Given the description of an element on the screen output the (x, y) to click on. 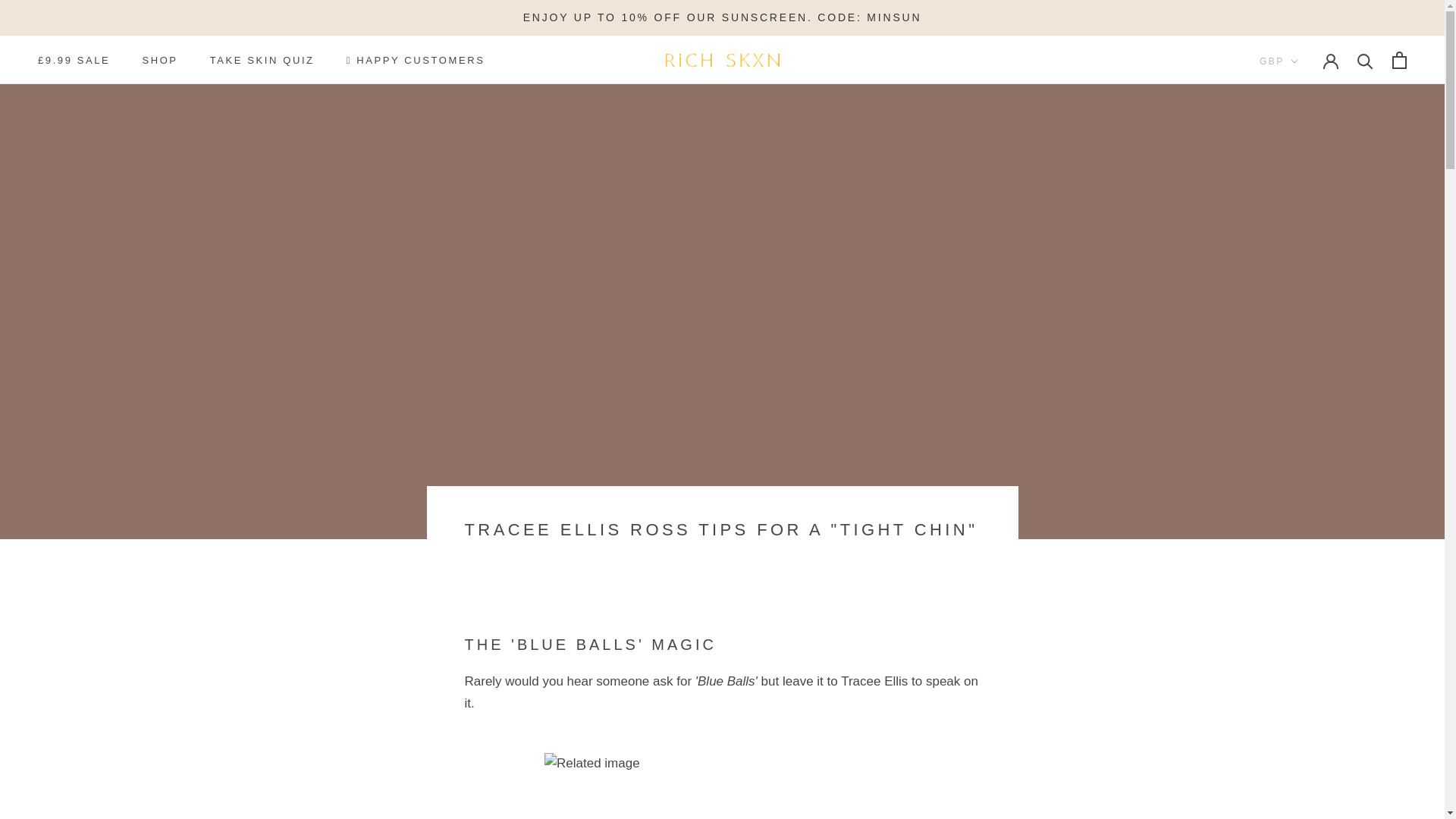
Currency selector (1278, 61)
